Given the description of an element on the screen output the (x, y) to click on. 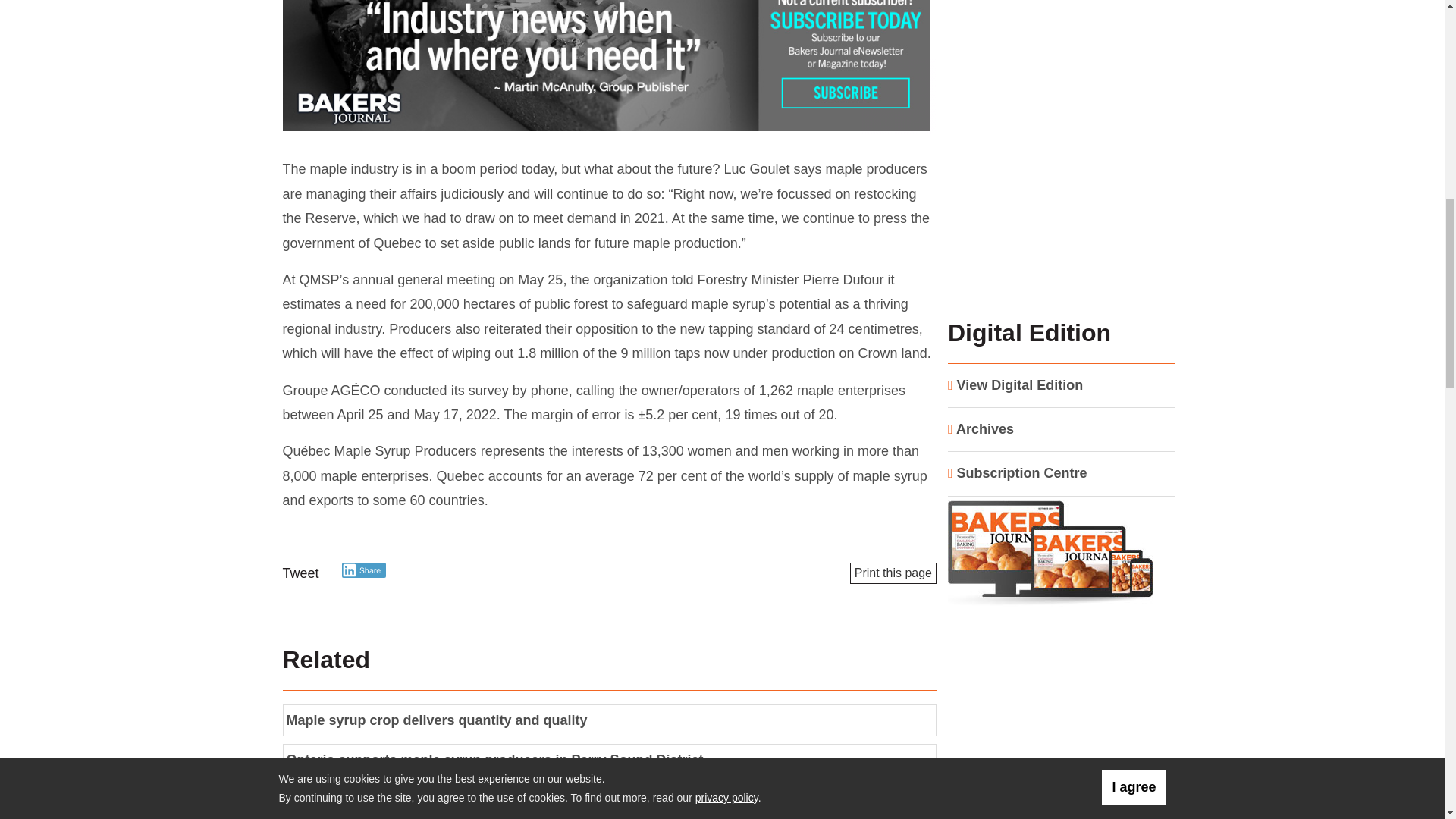
3rd party ad content (1055, 726)
3rd party ad content (609, 67)
